Given the description of an element on the screen output the (x, y) to click on. 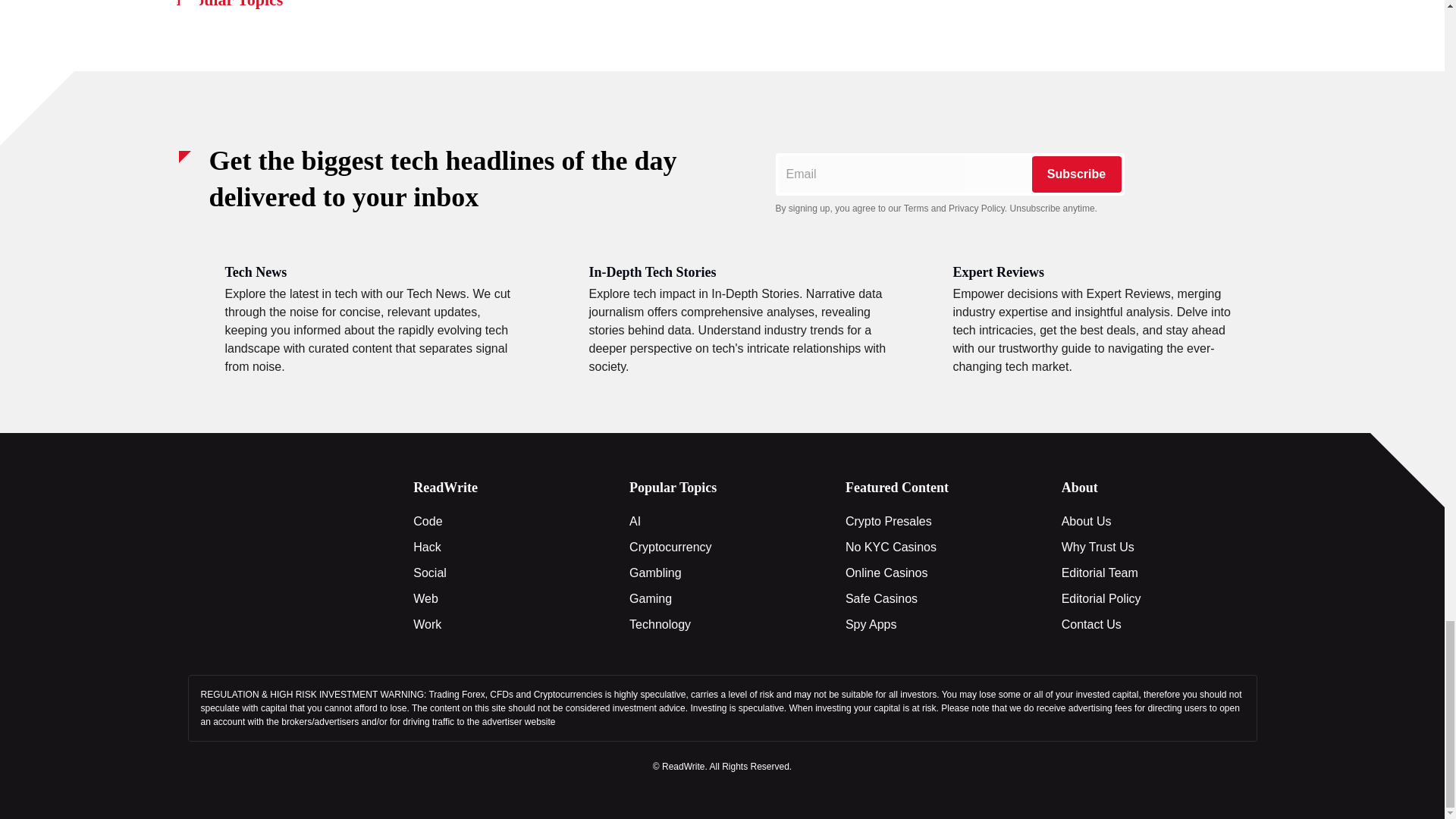
Subscribe (1075, 174)
